Given the description of an element on the screen output the (x, y) to click on. 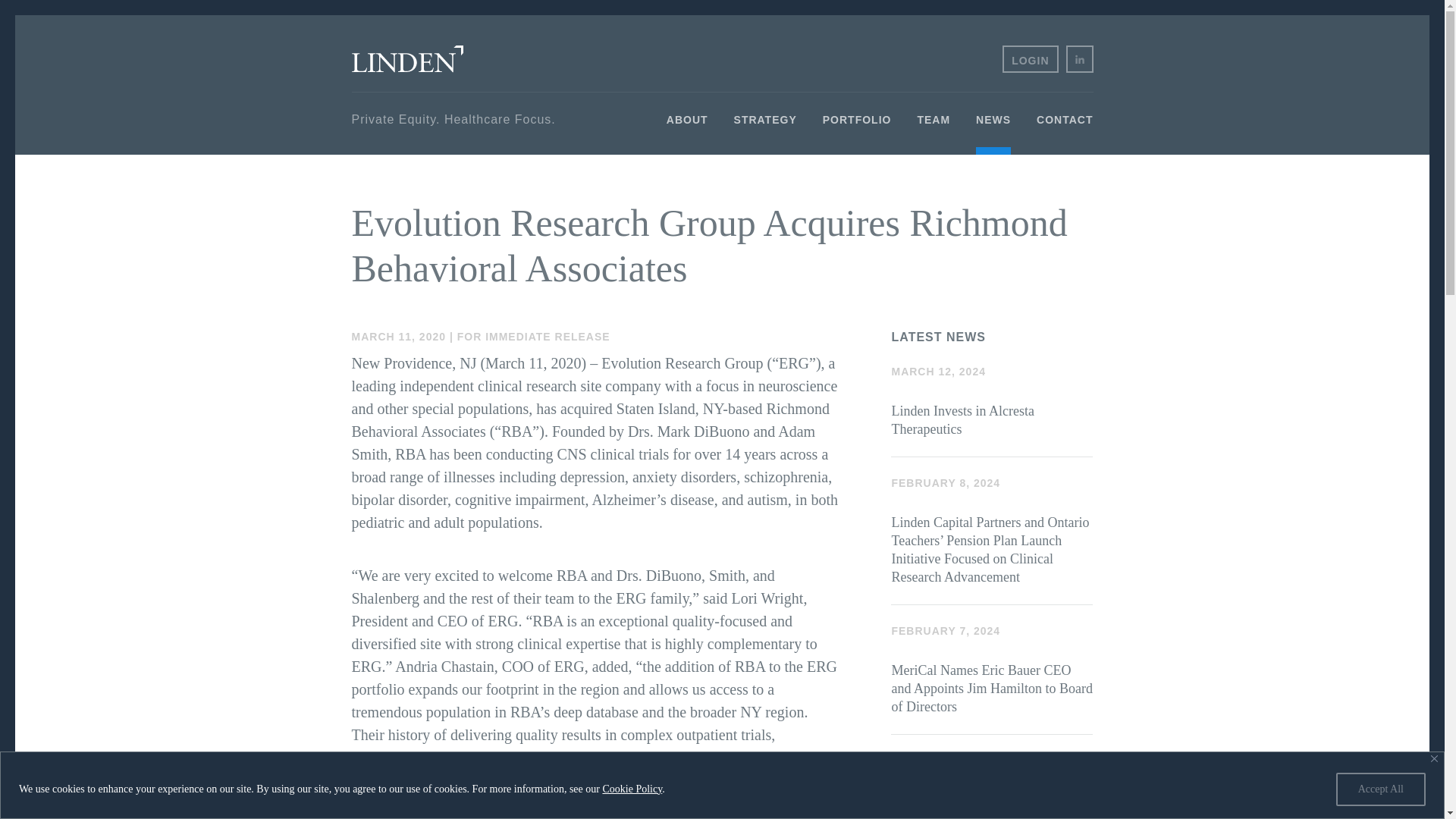
TEAM (933, 132)
See All News (992, 760)
Linden LLC (407, 58)
Linden LLC (407, 58)
LINDEN LLC ON LINKEDIN (1079, 58)
Cookie Policy (632, 787)
Linden Invests in Alcresta Therapeutics (992, 400)
PORTFOLIO (856, 132)
LOGIN (1030, 58)
ABOUT (686, 132)
STRATEGY (764, 132)
Investor Login (1030, 58)
Linden LLC on LinkedIn (1079, 58)
